Given the description of an element on the screen output the (x, y) to click on. 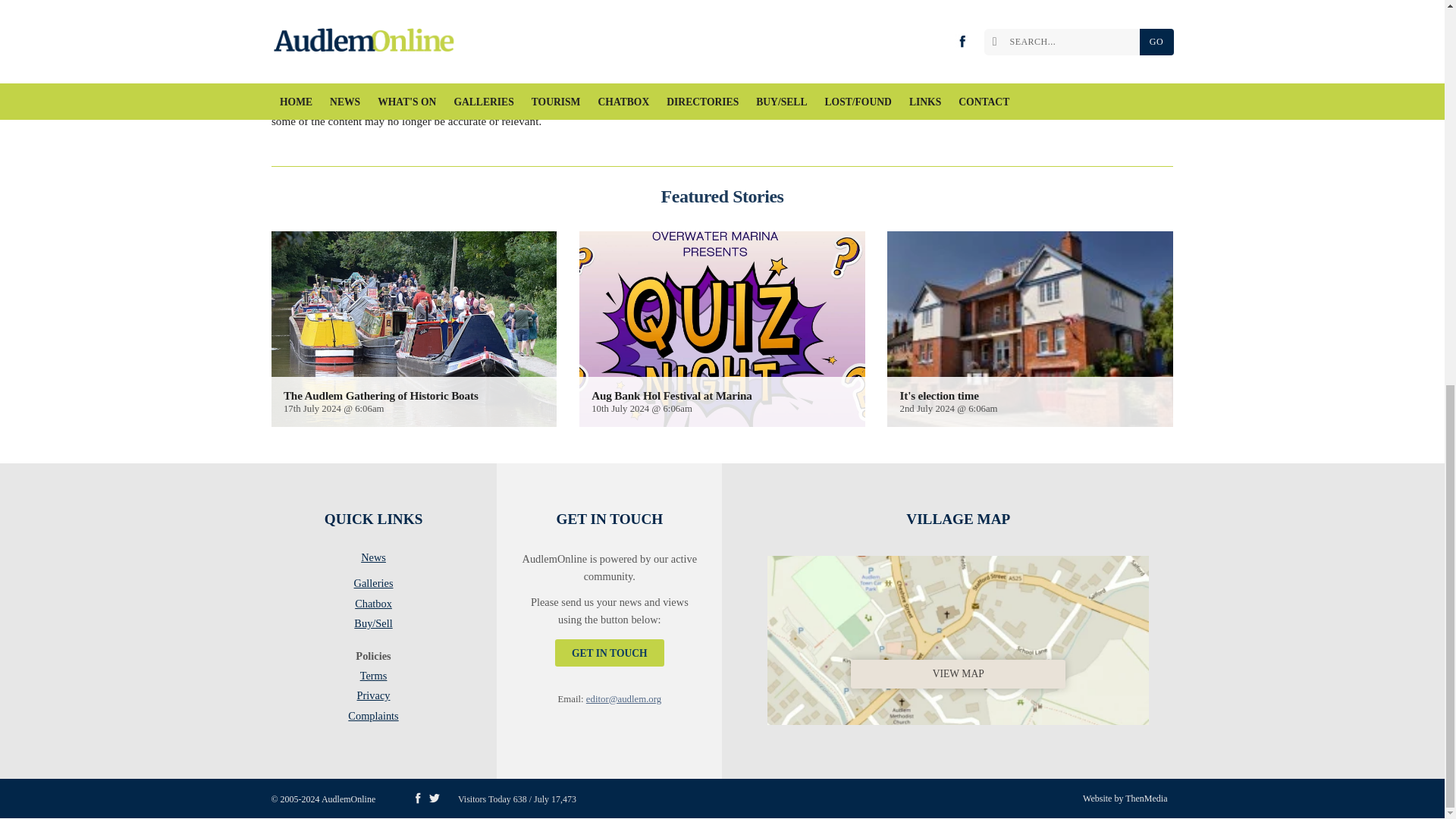
News (373, 560)
Chatbox (373, 606)
Privacy (373, 698)
Visit our Facebook Page (417, 797)
Visit our X Feed (434, 797)
Featured Stories (722, 196)
Terms (373, 678)
Galleries (373, 586)
